Given the description of an element on the screen output the (x, y) to click on. 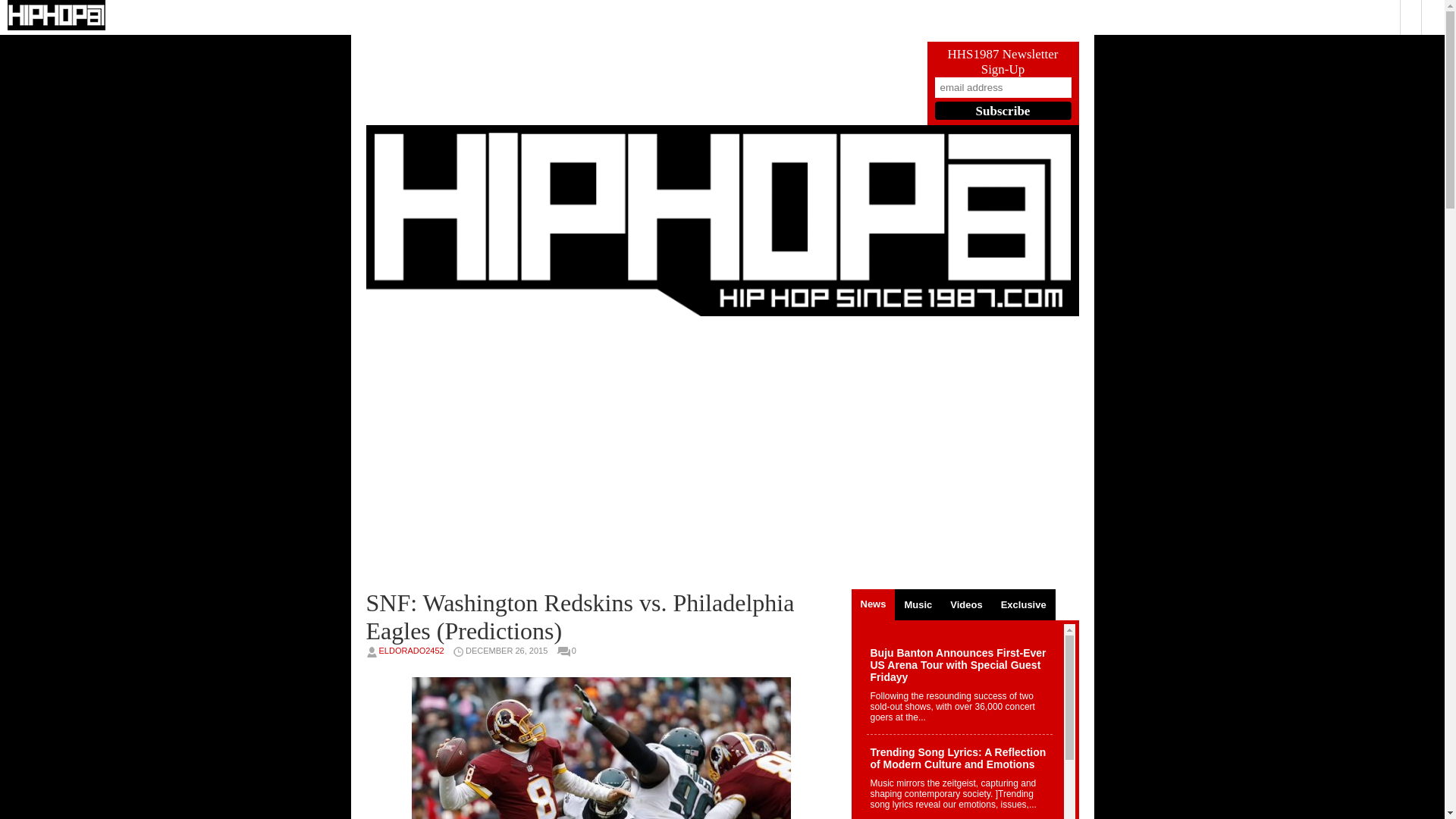
Posts by Eldorado2452 (411, 650)
Subscribe (1002, 110)
ELDORADO2452 (411, 650)
YouTube video player (600, 451)
0 (577, 650)
Subscribe (1002, 110)
